Given the description of an element on the screen output the (x, y) to click on. 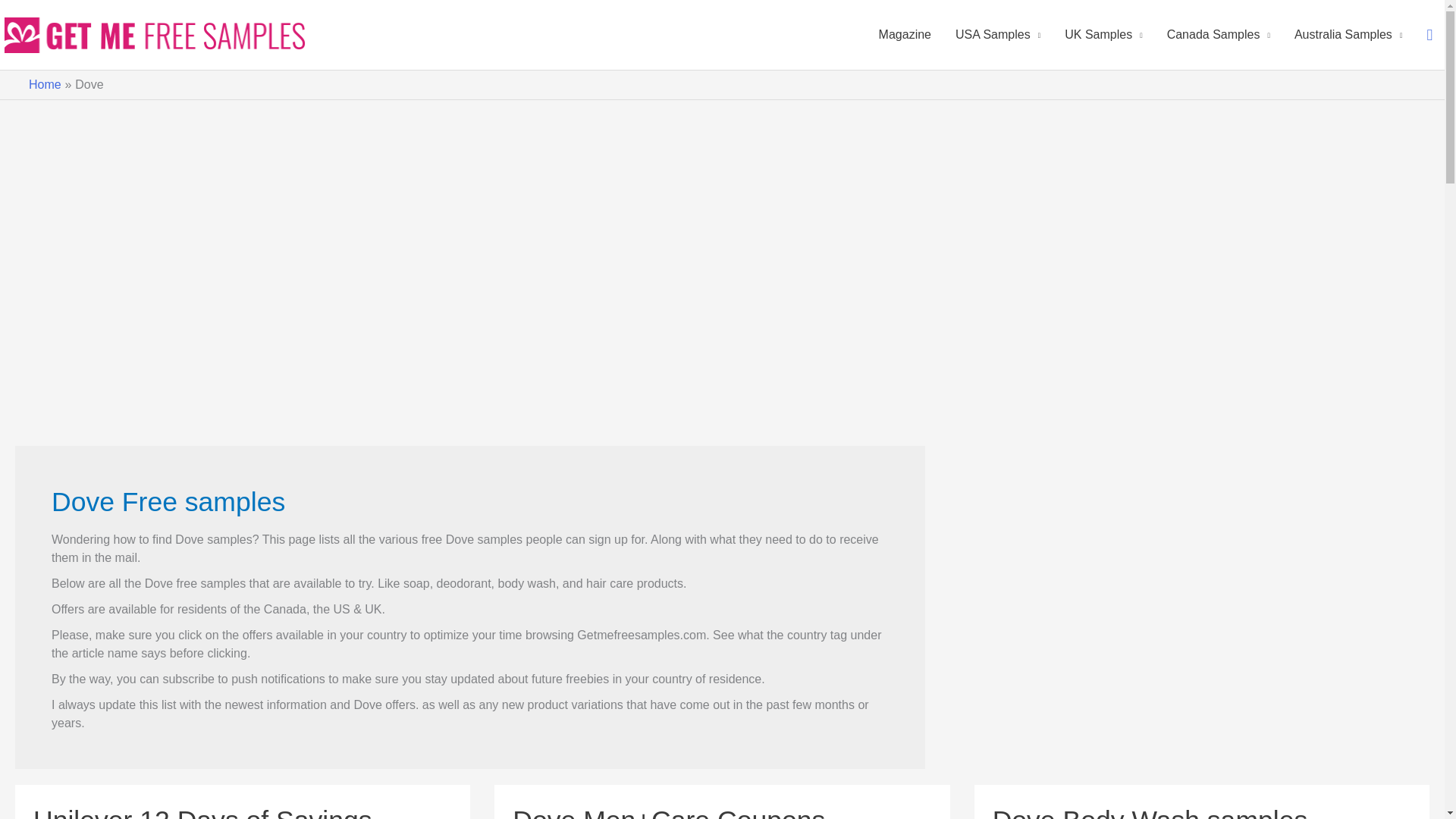
Search (1429, 35)
Unilever 12 Days of Savings (202, 812)
UK Samples (1103, 34)
Magazine (904, 34)
USA Samples (997, 34)
Canada Samples (1218, 34)
Home (45, 83)
Australia Samples (1347, 34)
